Given the description of an element on the screen output the (x, y) to click on. 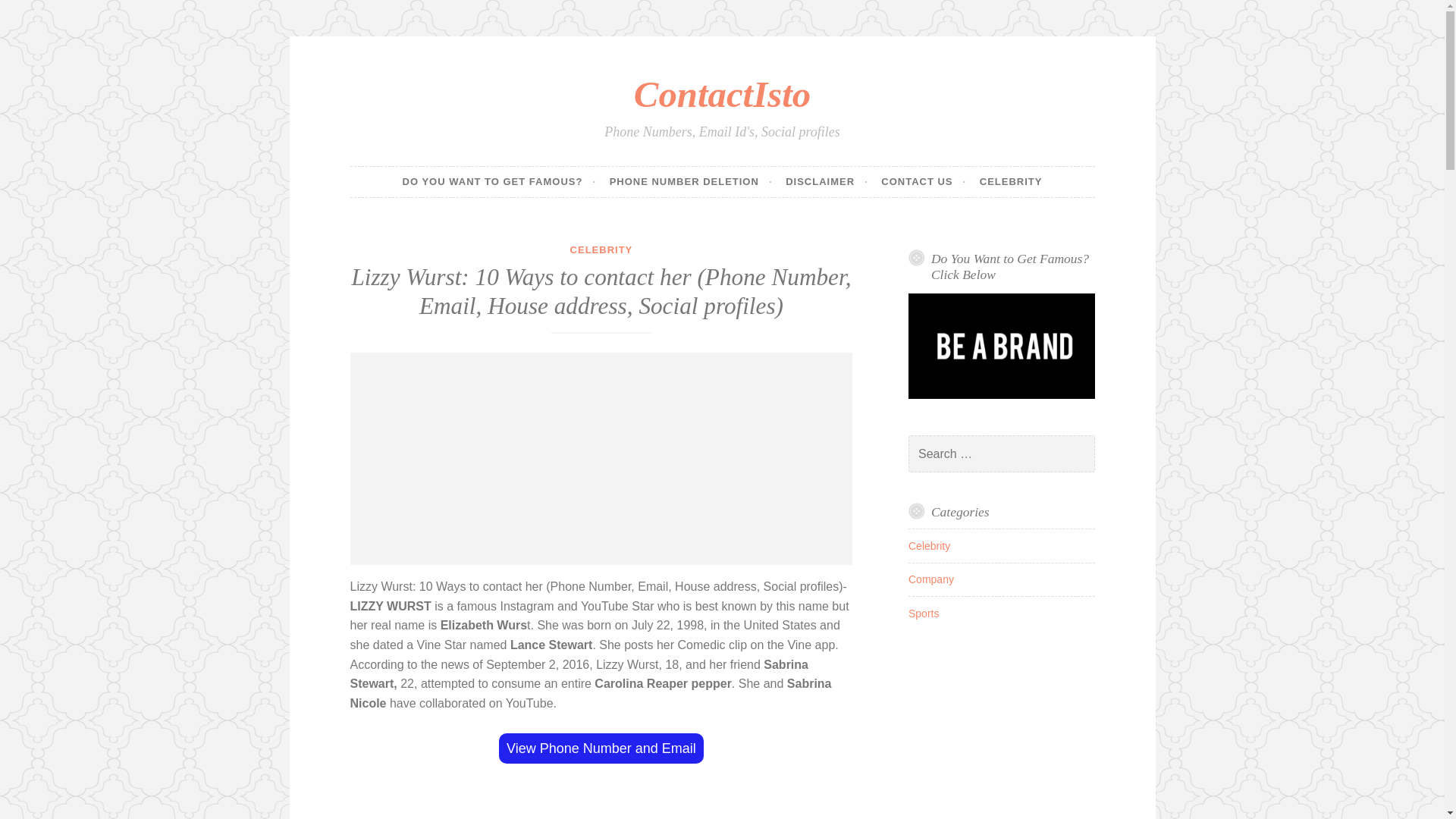
DISCLAIMER (826, 182)
Search (33, 13)
Sports (923, 613)
Celebrity (929, 545)
DO YOU WANT TO GET FAMOUS? (499, 182)
Company (930, 579)
CELEBRITY (601, 249)
ContactIsto (721, 94)
View Phone Number and Email (601, 748)
CELEBRITY (1010, 182)
CONTACT US (923, 182)
PHONE NUMBER DELETION (691, 182)
